Given the description of an element on the screen output the (x, y) to click on. 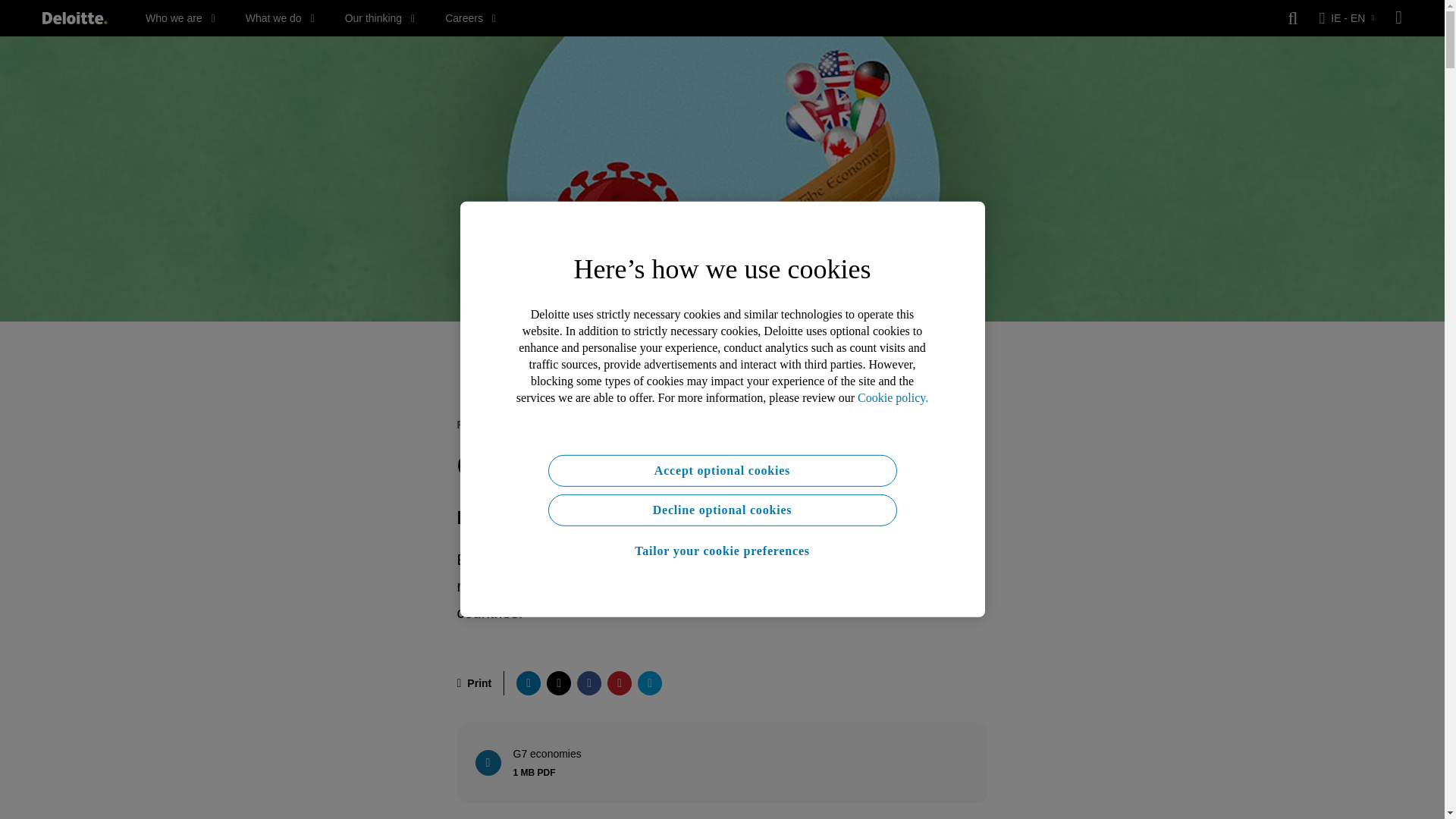
Deloitte (74, 18)
share via... (588, 682)
Careers (470, 18)
share via... (619, 682)
Our thinking (379, 18)
Print (474, 682)
share via... (558, 682)
What we do (280, 18)
share via... (649, 682)
Who we are (180, 18)
